Given the description of an element on the screen output the (x, y) to click on. 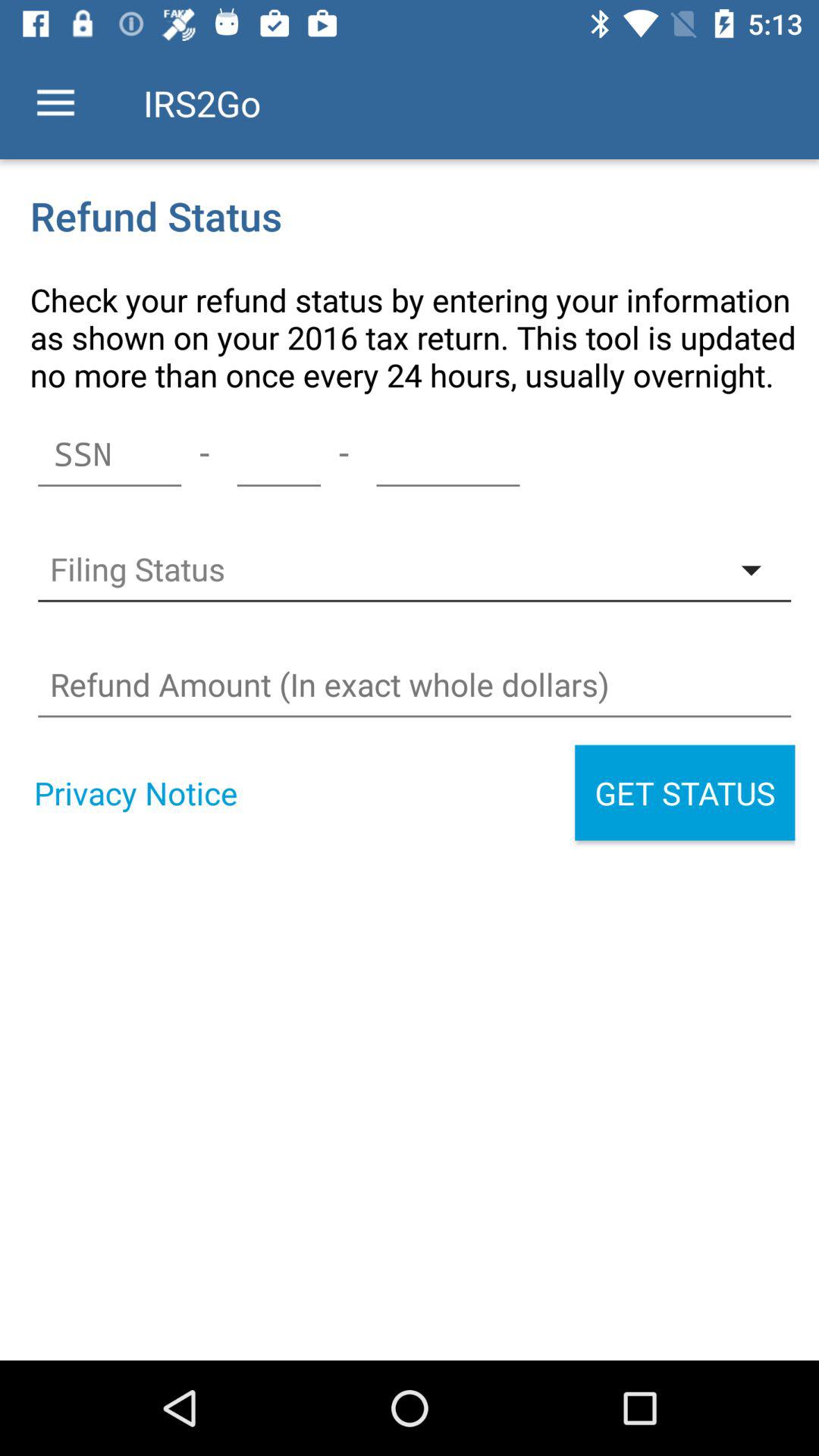
type refund amount (414, 685)
